Given the description of an element on the screen output the (x, y) to click on. 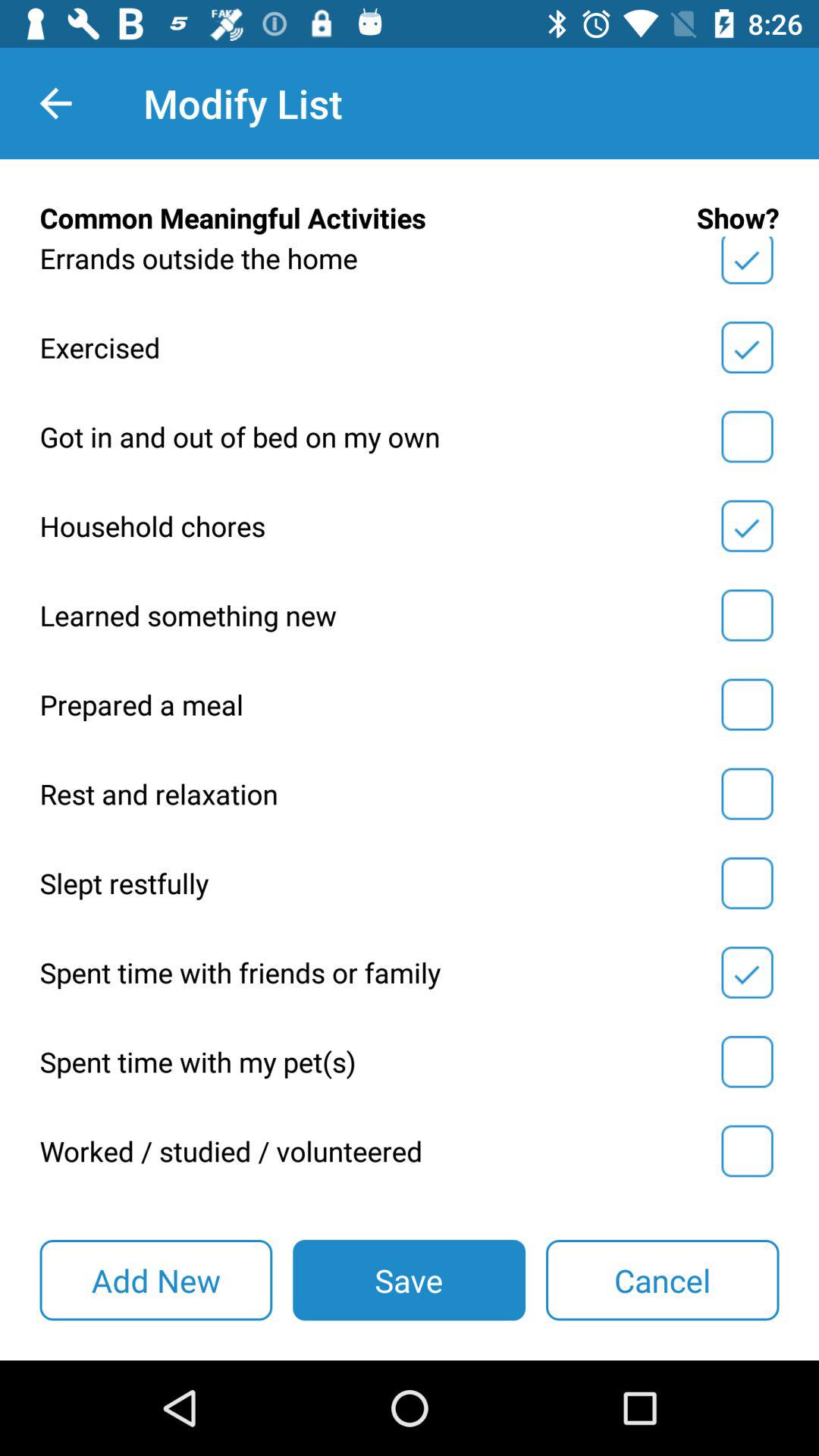
toggle learned something new (747, 615)
